Given the description of an element on the screen output the (x, y) to click on. 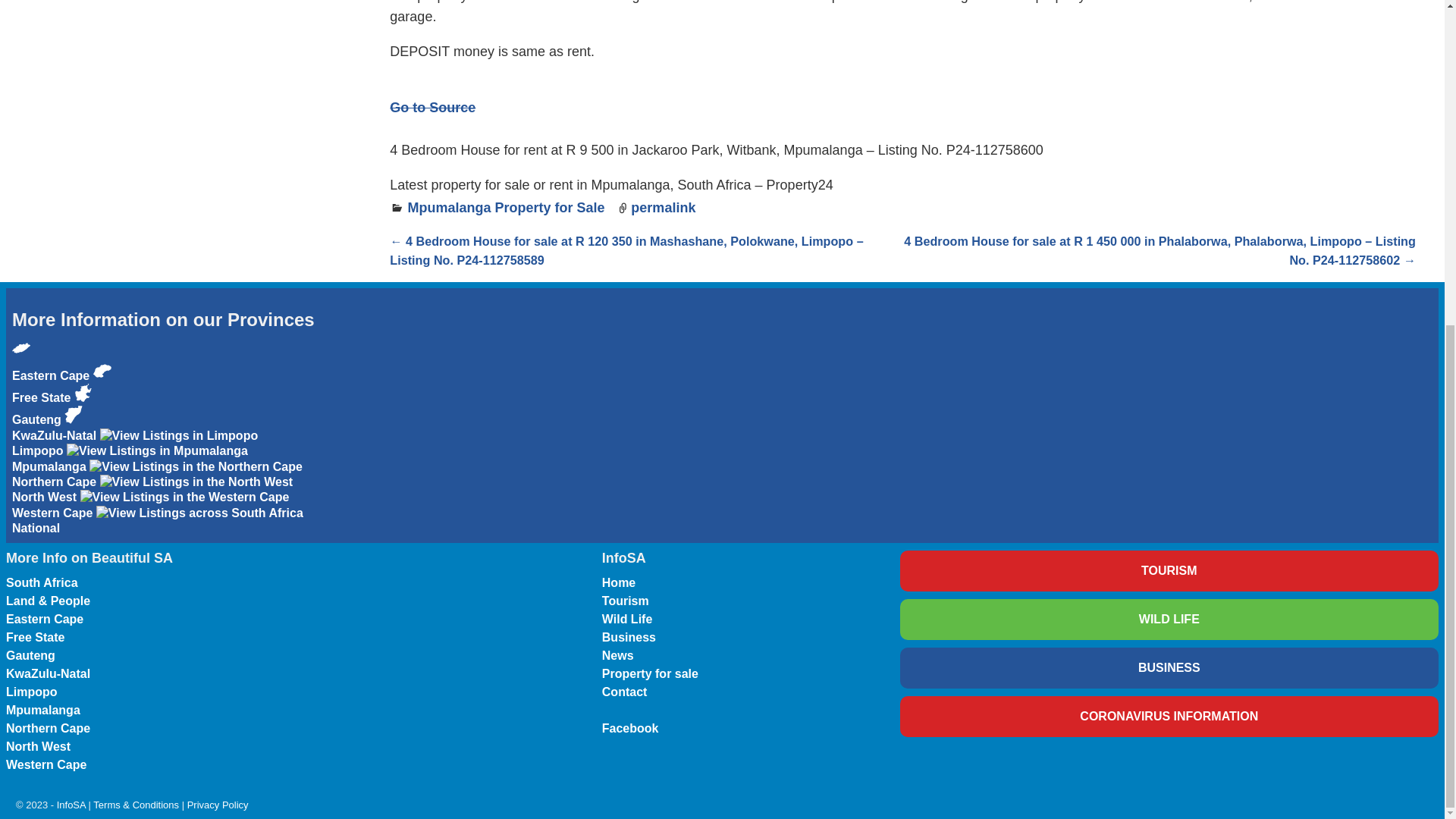
View Listings in the Eastern Cape (52, 363)
View Listings in Limpopo (179, 435)
View Listings in the Free State (102, 370)
View Listings in Mpumalanga (129, 458)
View Listings in Limpopo (134, 443)
View Listings in KwaZulu-Natal  (55, 427)
View Listings in Mpumalanga (156, 450)
View Listings in Gauteng (83, 393)
View Listings in KwaZulu-Natal  (73, 414)
View Listings in the Free State (61, 386)
